Given the description of an element on the screen output the (x, y) to click on. 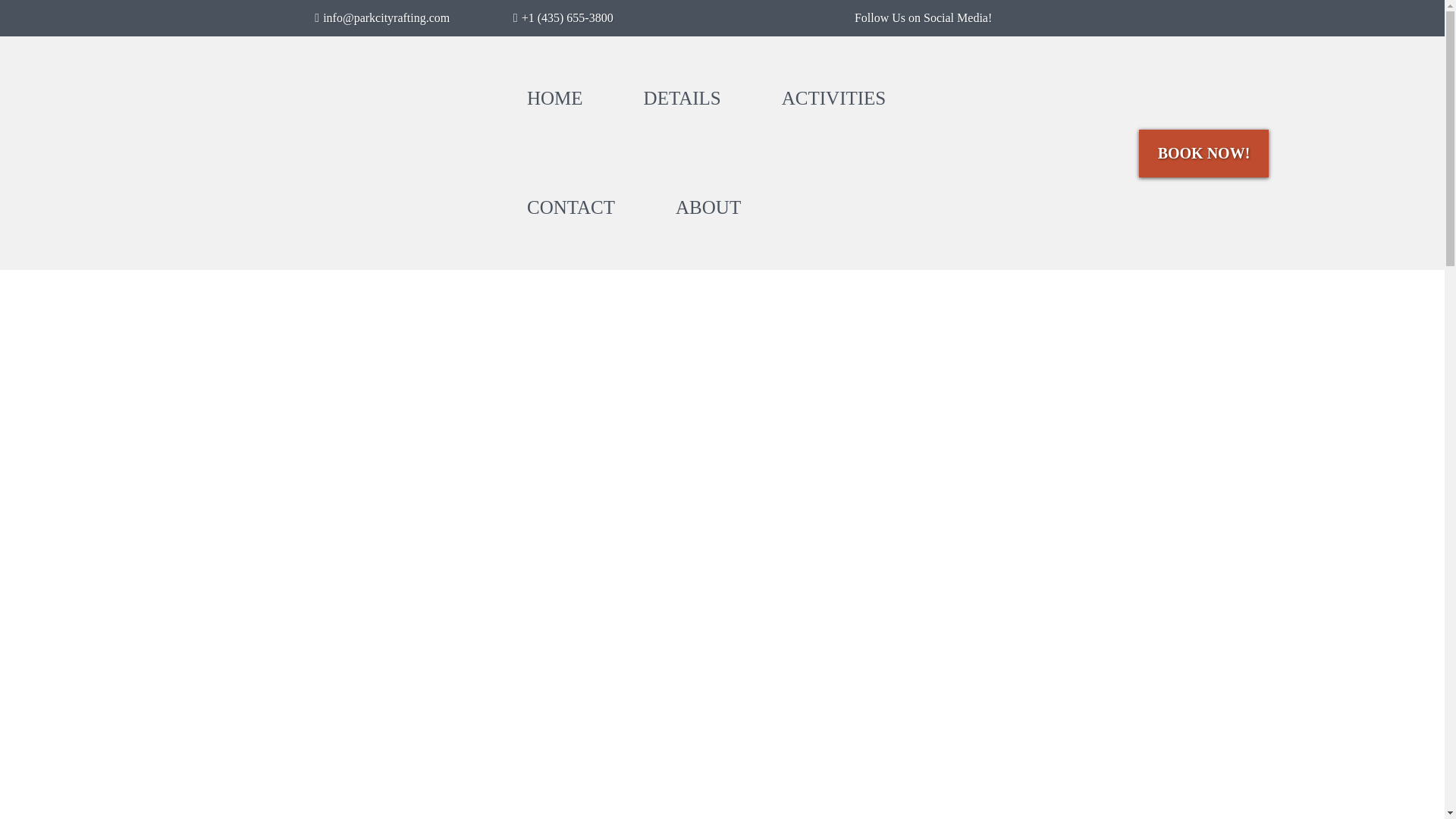
HOME (554, 98)
ABOUT (708, 207)
DETAILS (681, 98)
CONTACT (570, 207)
BOOK NOW! (1203, 152)
ACTIVITIES (833, 98)
